Given the description of an element on the screen output the (x, y) to click on. 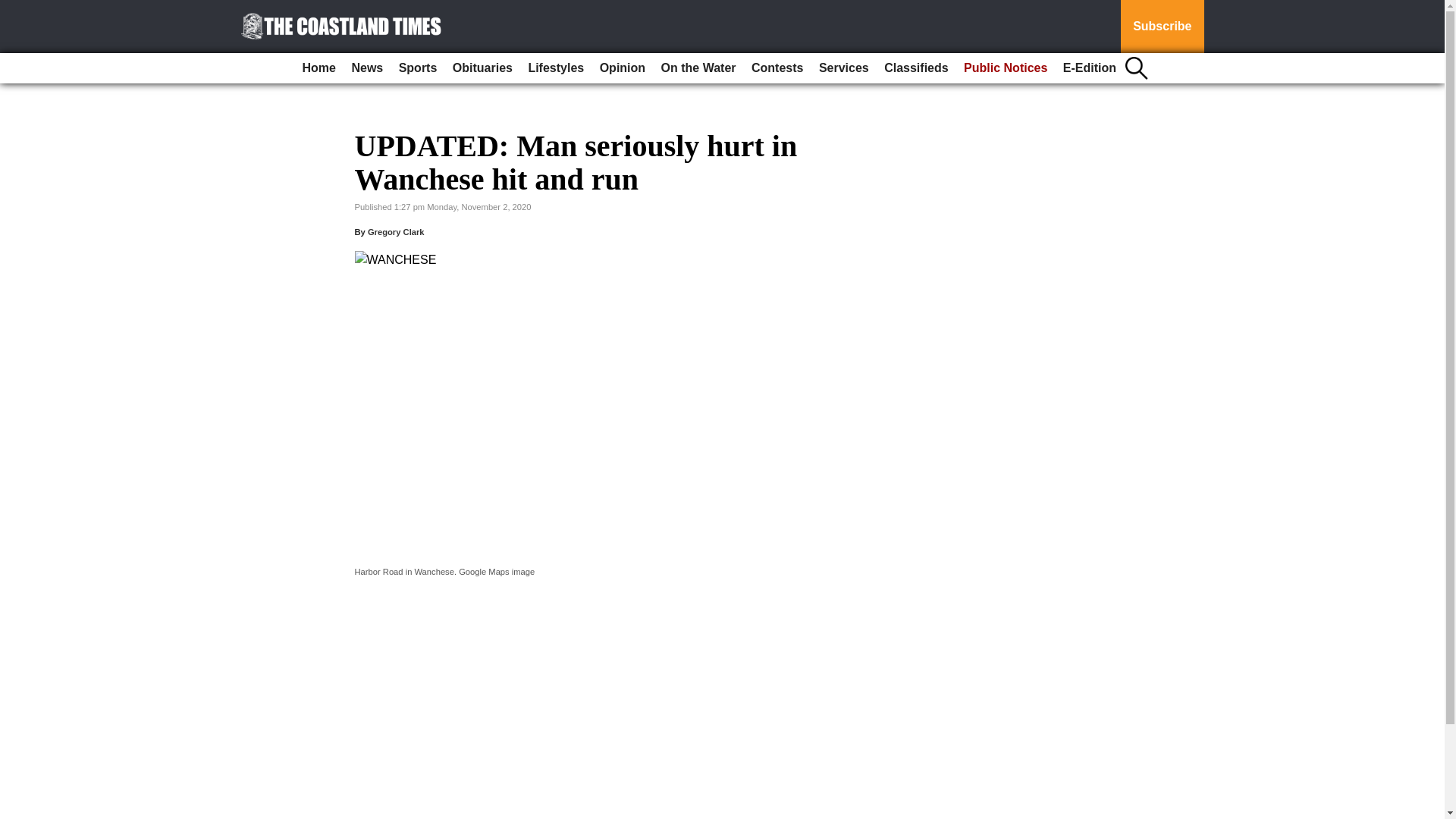
Gregory Clark (396, 231)
On the Water (698, 68)
Subscribe (1162, 26)
Obituaries (482, 68)
E-Edition (1089, 68)
News (366, 68)
Public Notices (1005, 68)
Home (319, 68)
Lifestyles (555, 68)
Go (13, 9)
Contests (777, 68)
Classifieds (915, 68)
Opinion (622, 68)
Services (843, 68)
Sports (418, 68)
